Given the description of an element on the screen output the (x, y) to click on. 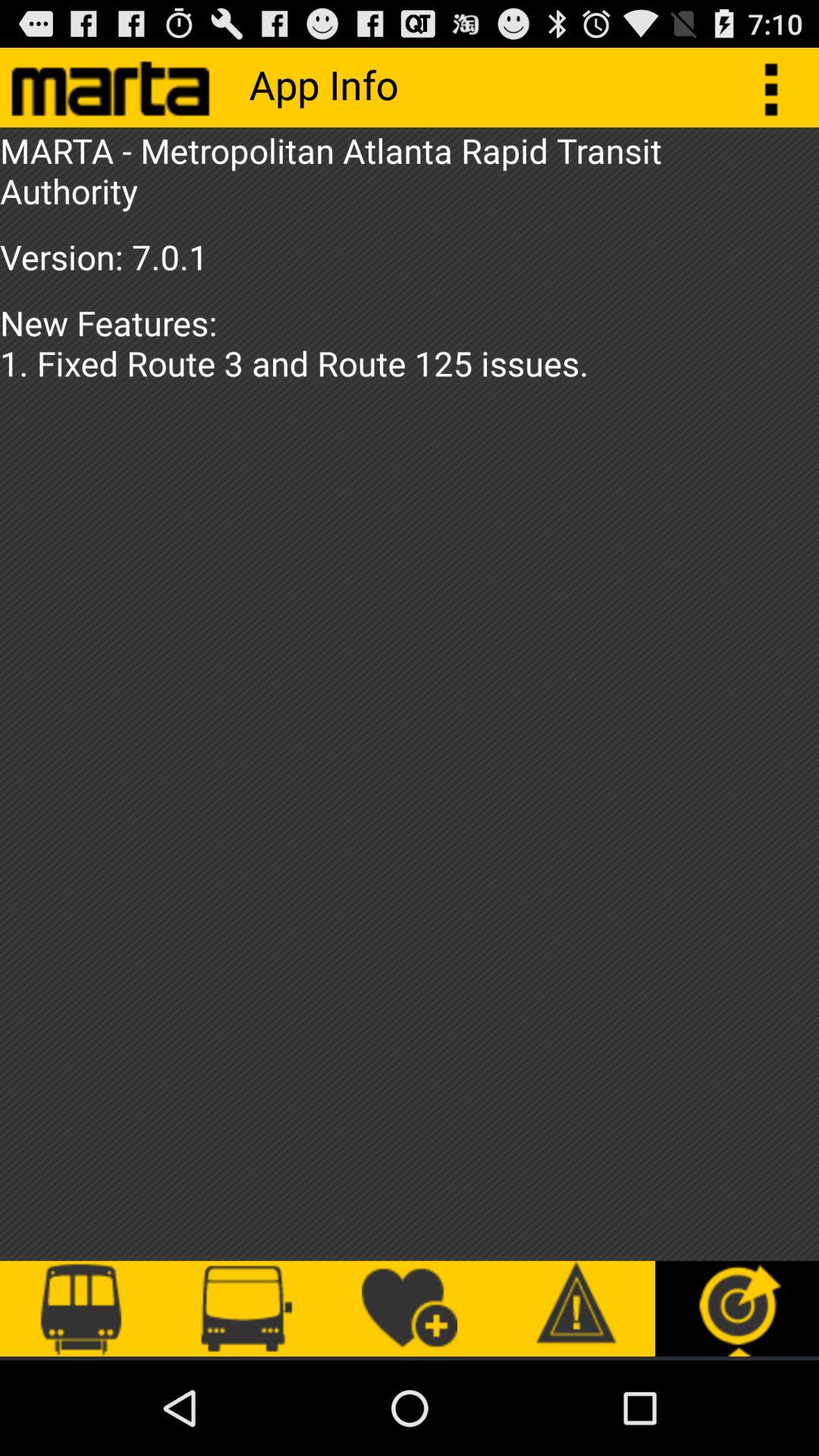
tap the icon at the top right corner (779, 87)
